Given the description of an element on the screen output the (x, y) to click on. 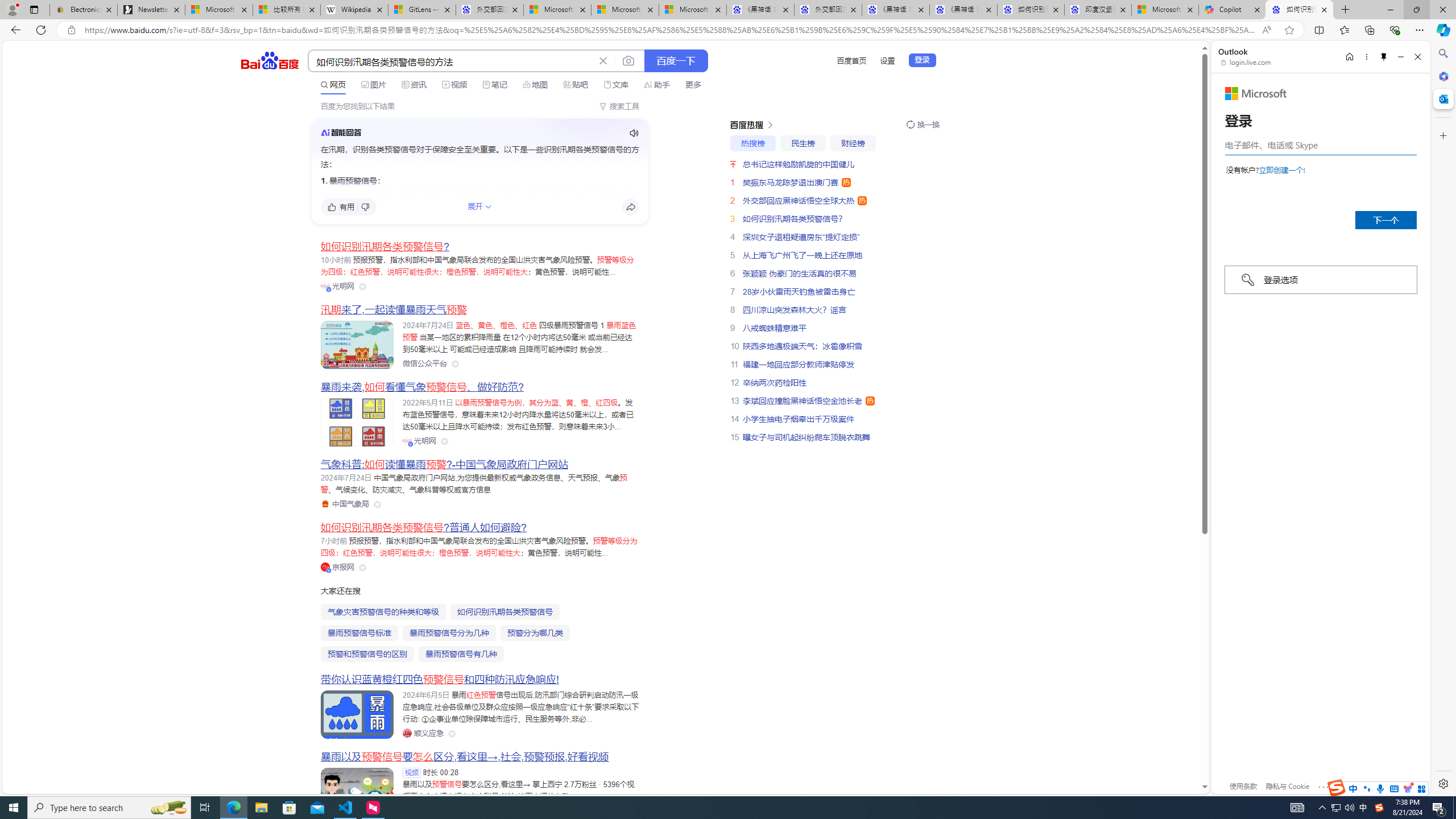
Class: siteLink_9TPP3 (423, 732)
